Given the description of an element on the screen output the (x, y) to click on. 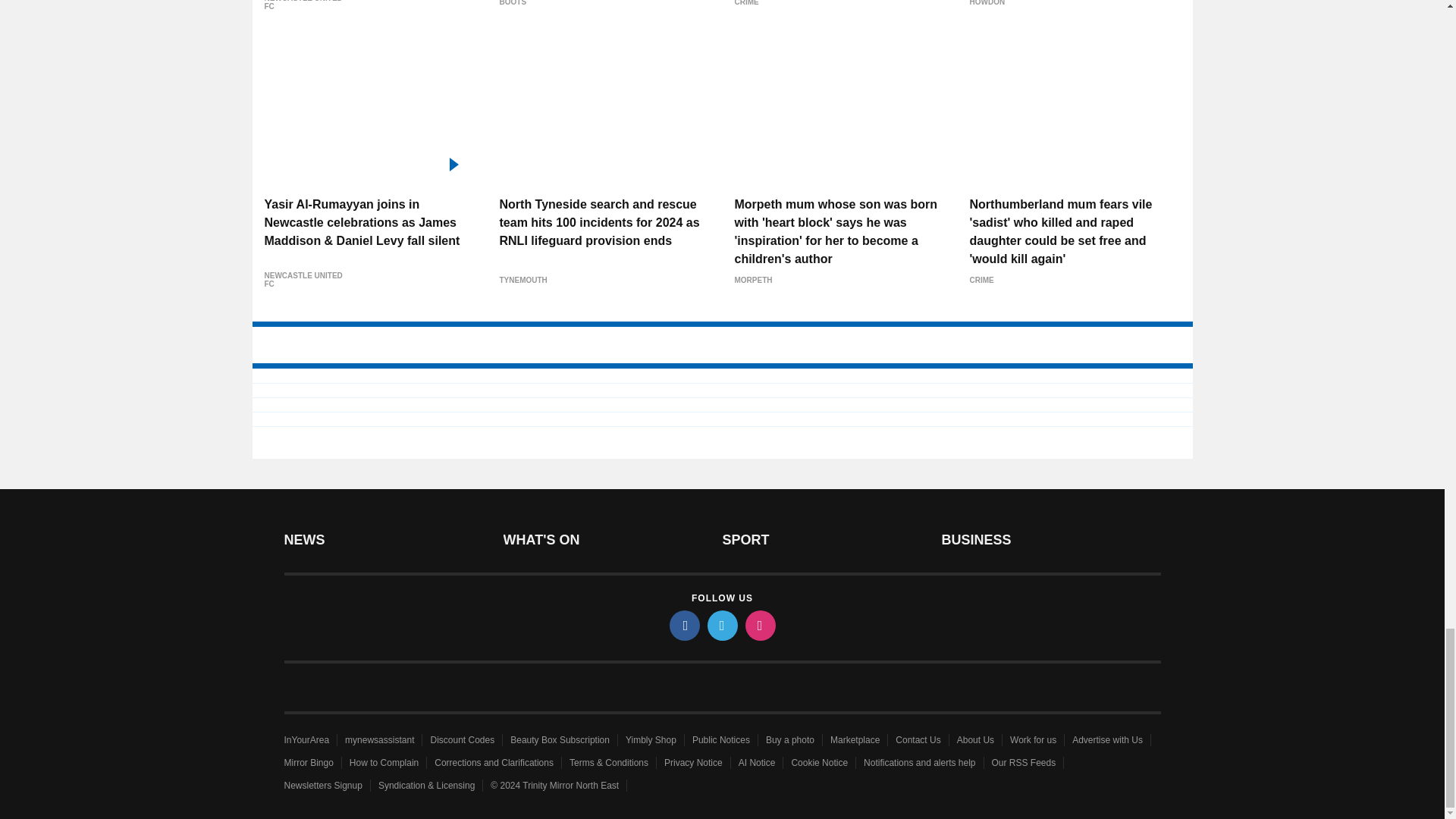
twitter (721, 625)
instagram (759, 625)
facebook (683, 625)
